Given the description of an element on the screen output the (x, y) to click on. 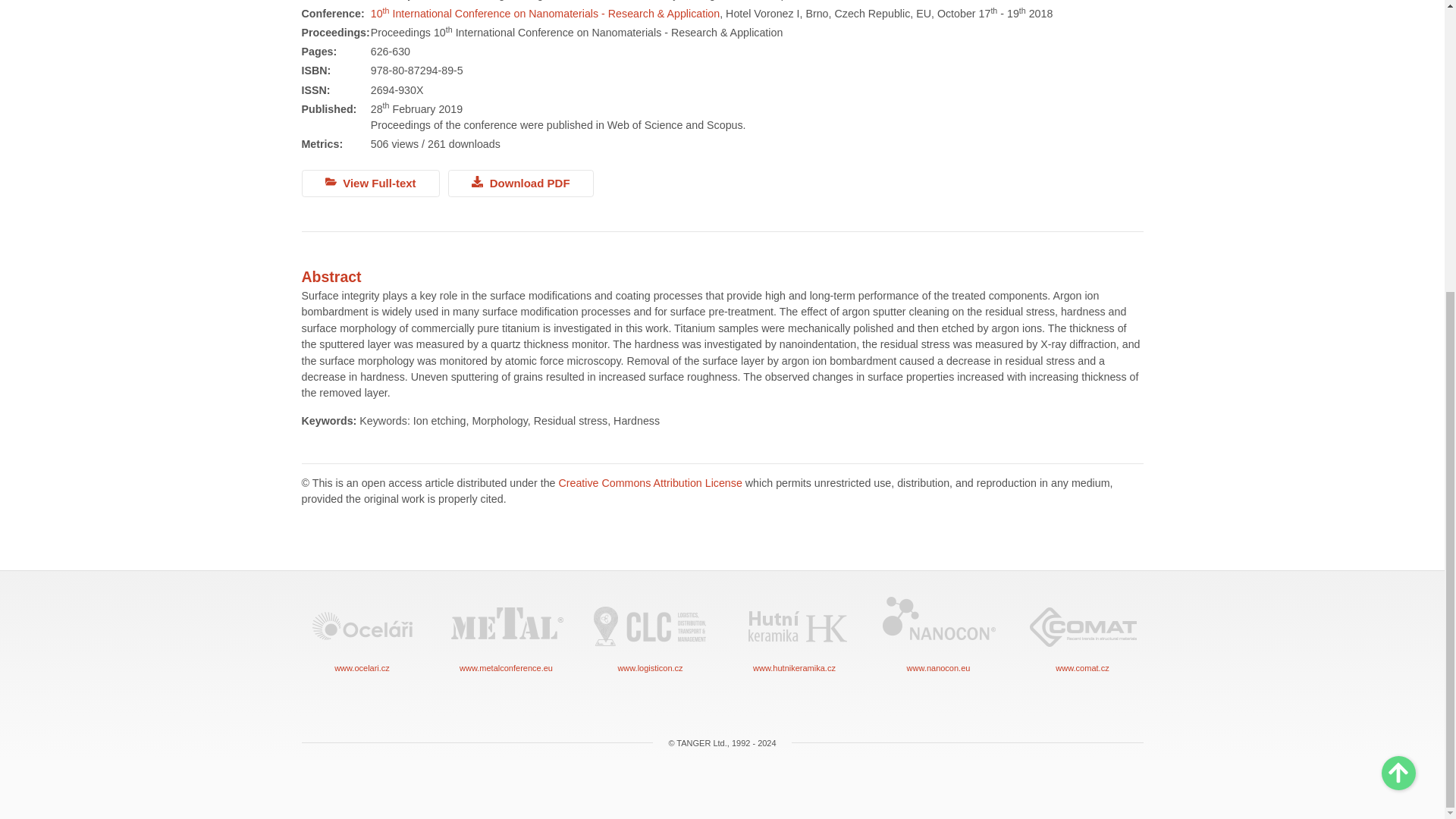
www.metalconference.eu (506, 633)
Scroll to Top (1398, 327)
Download PDF (521, 183)
www.nanocon.eu (937, 633)
www.comat.cz (1082, 633)
Creative Commons Attribution License (649, 482)
www.hutnikeramika.cz (794, 633)
www.logisticon.cz (650, 633)
Scroll to Top (1398, 327)
www.ocelari.cz (362, 633)
View Full-text (370, 183)
